Given the description of an element on the screen output the (x, y) to click on. 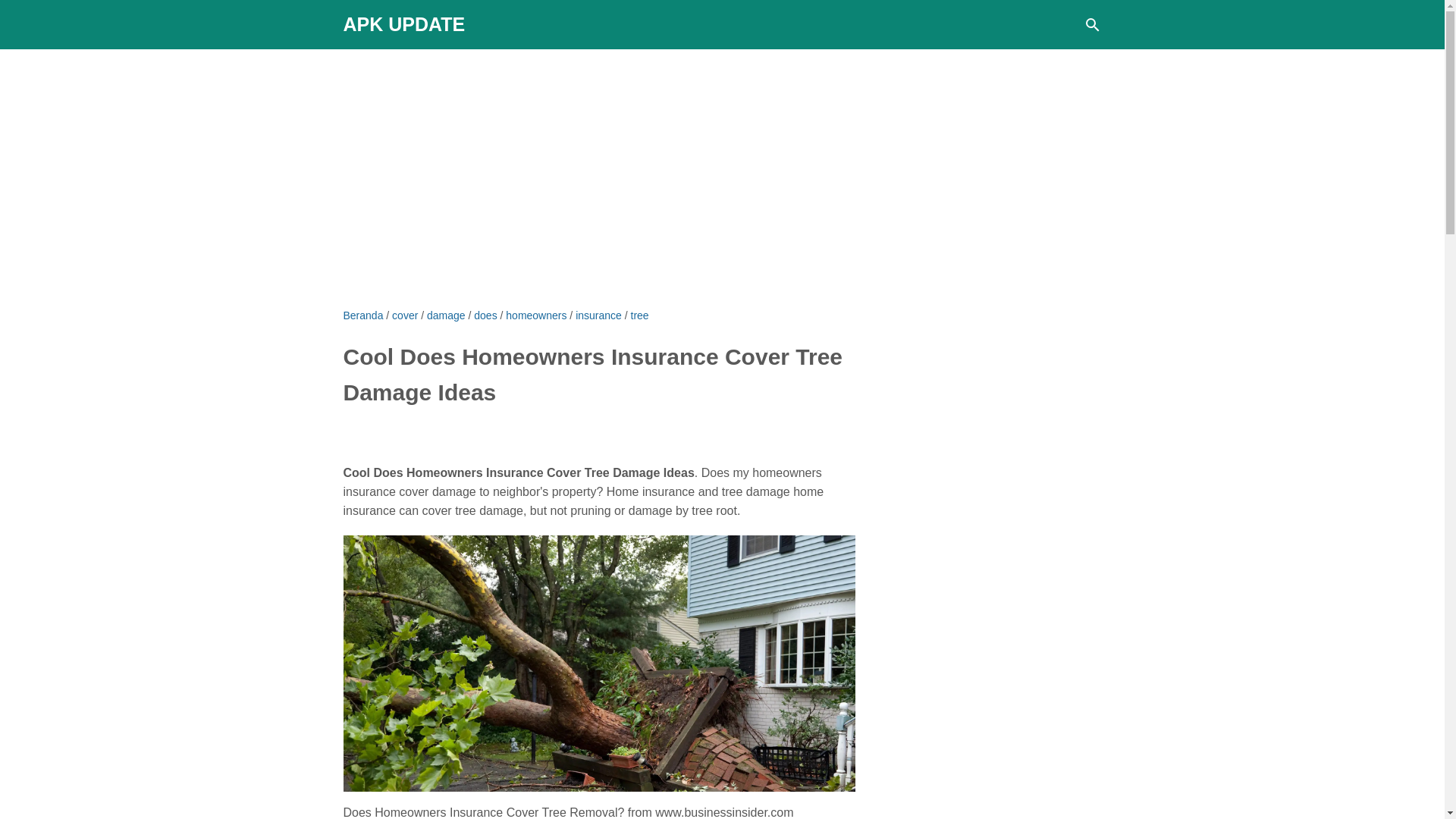
APK UPDATE (403, 24)
does (485, 315)
tree (639, 315)
homeowners (535, 315)
Home (362, 315)
tree (639, 315)
APK UPDATE (403, 24)
Beranda (362, 315)
insurance (598, 315)
damage (445, 315)
Cari blog ini (1091, 24)
cover (404, 315)
damage (445, 315)
cover (404, 315)
does (485, 315)
